Given the description of an element on the screen output the (x, y) to click on. 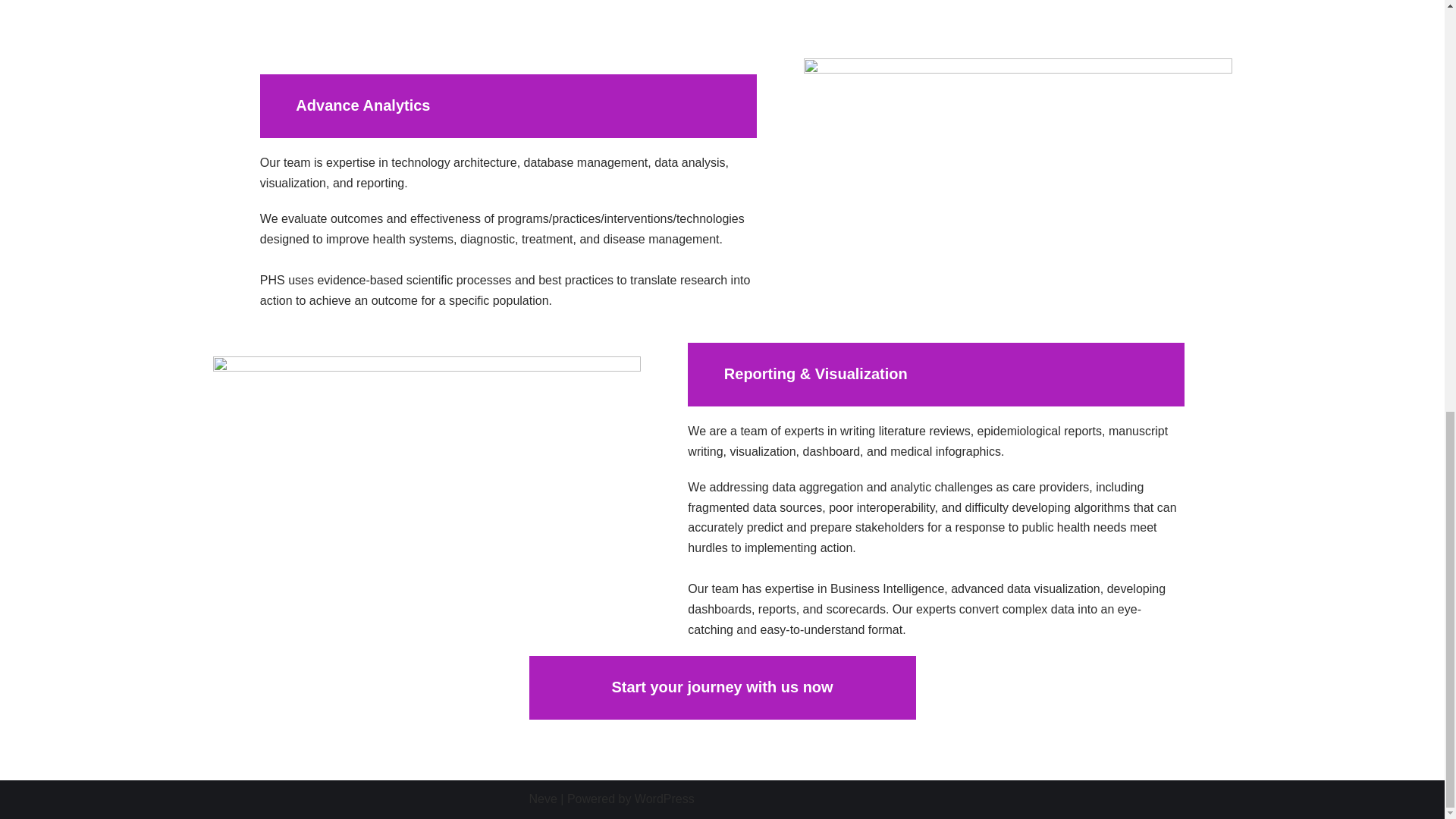
WordPress (664, 798)
Neve (543, 798)
